Given the description of an element on the screen output the (x, y) to click on. 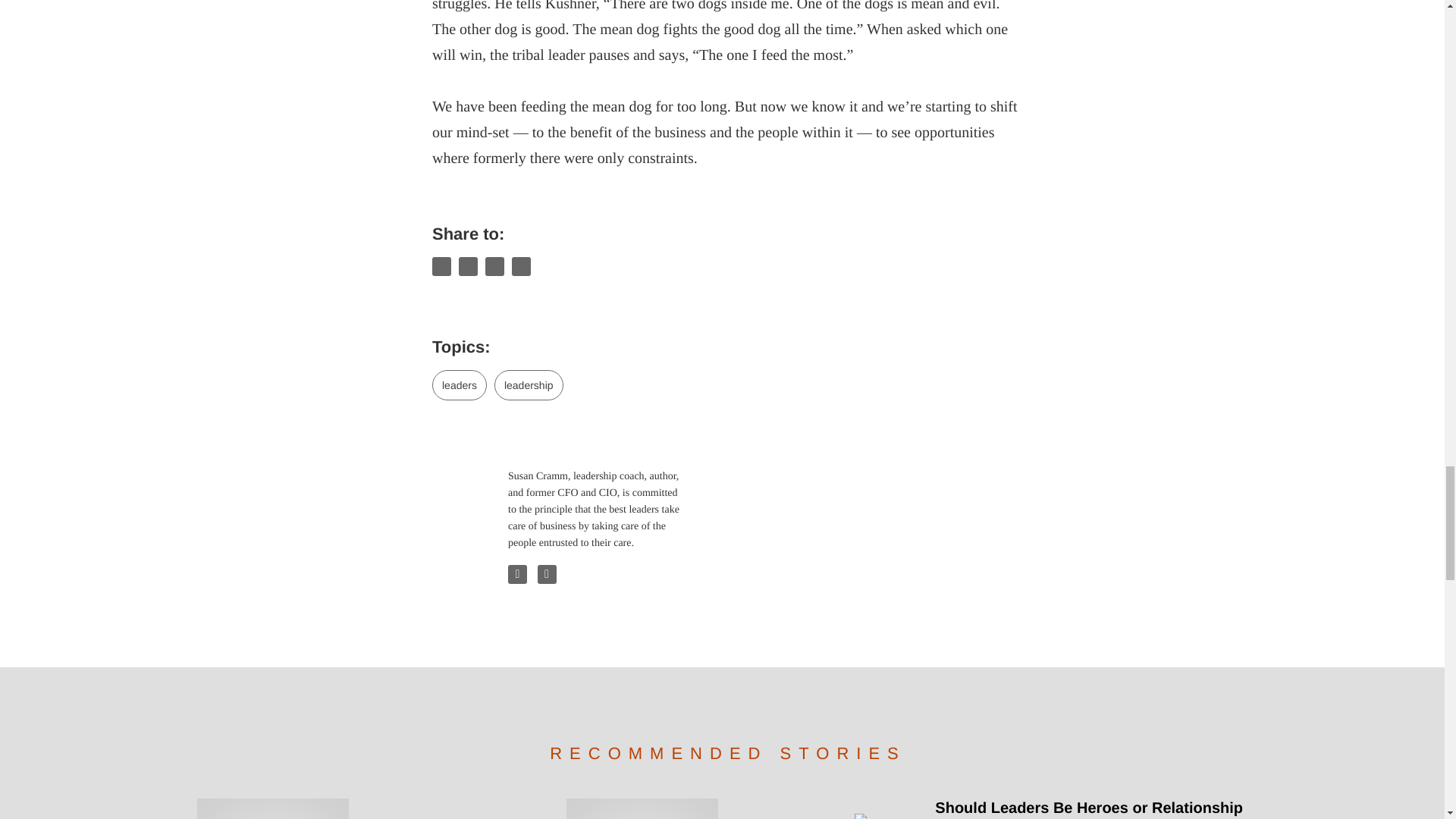
Susan Cramm (462, 498)
Five question marks on blackboard (641, 808)
